Given the description of an element on the screen output the (x, y) to click on. 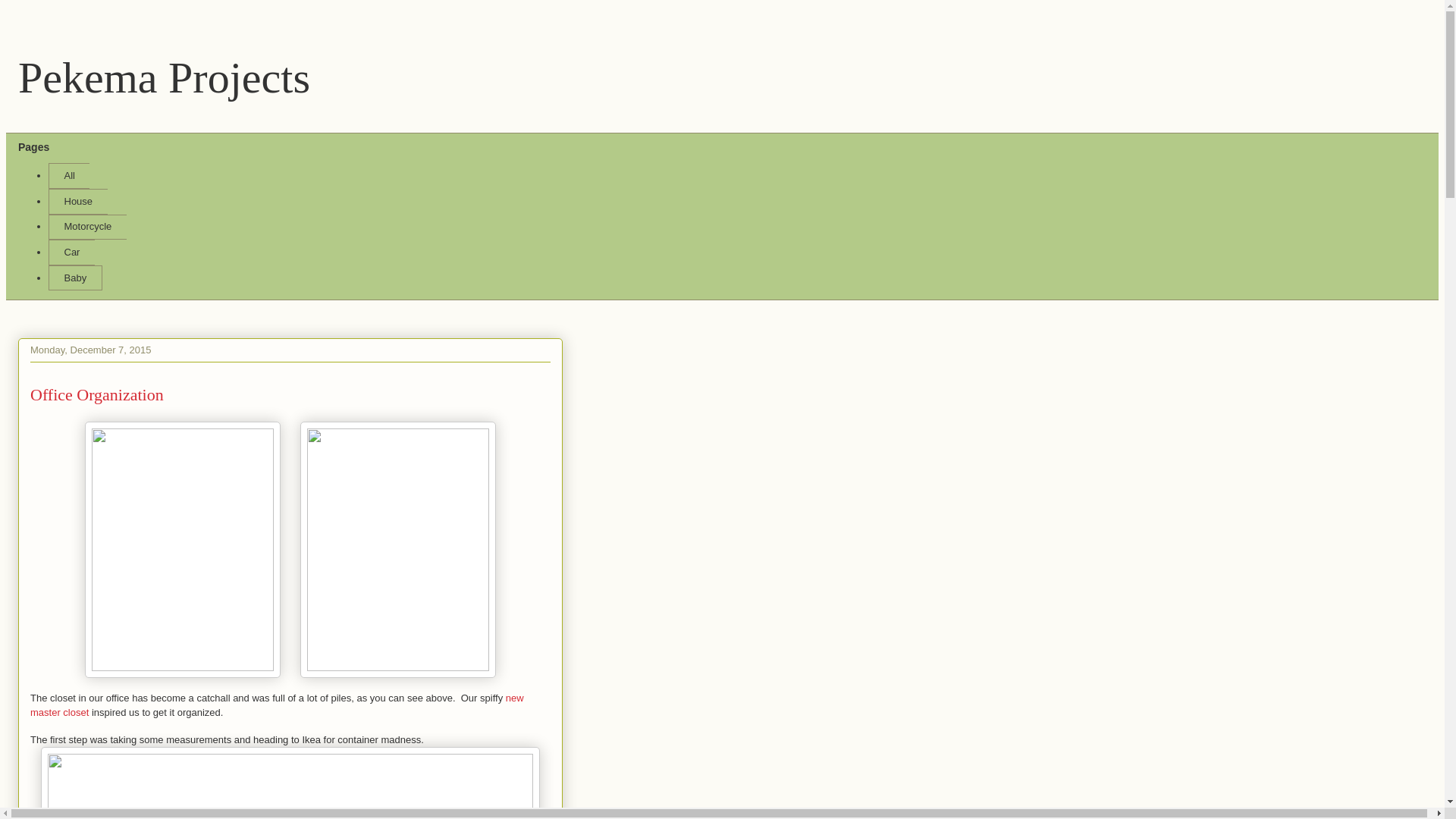
Motorcycle (87, 227)
Car (71, 252)
House (77, 201)
Pekema Projects (163, 77)
All (68, 175)
Baby (74, 278)
new master closet (277, 704)
